Given the description of an element on the screen output the (x, y) to click on. 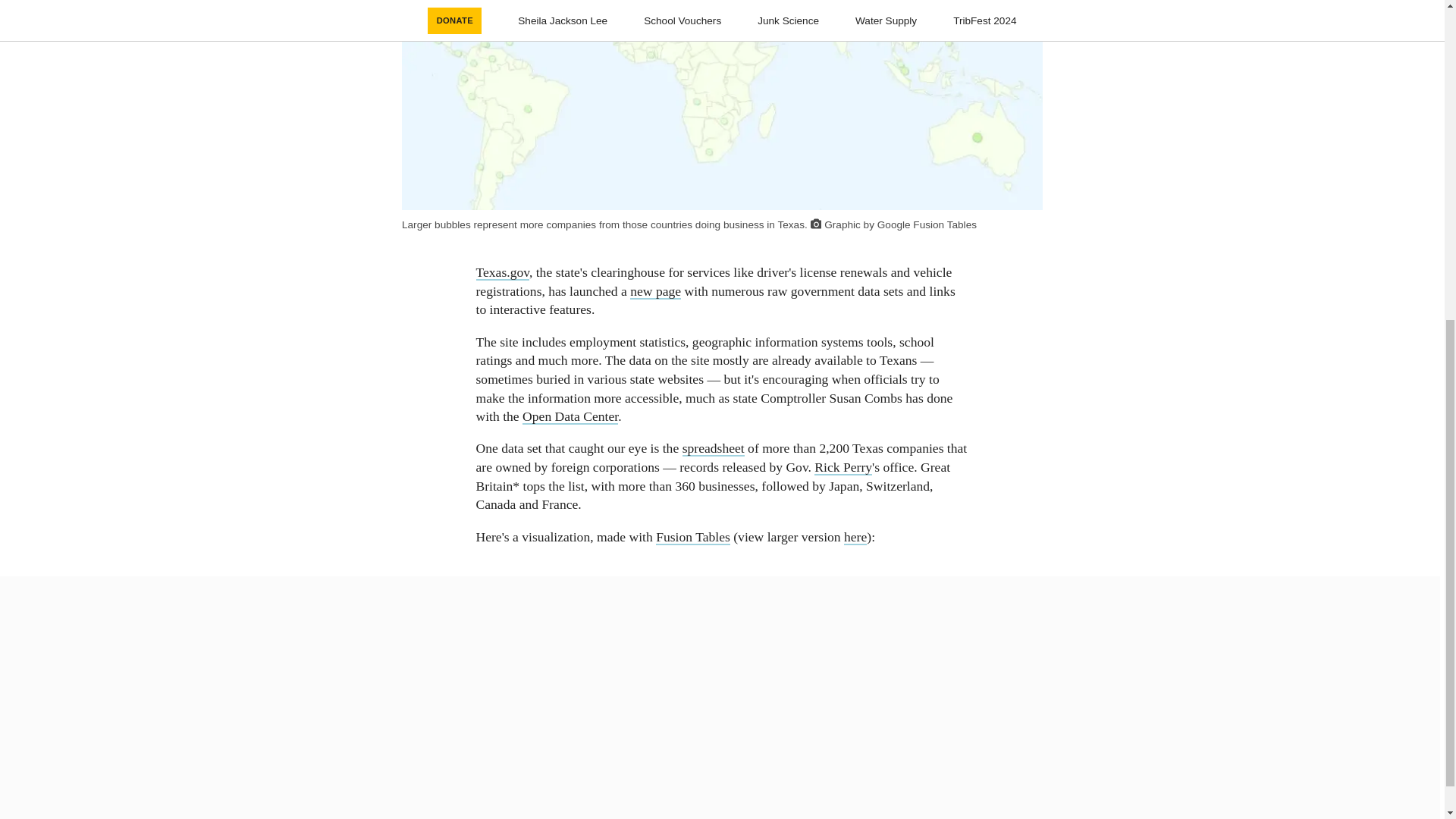
Texas.gov (502, 272)
